Given the description of an element on the screen output the (x, y) to click on. 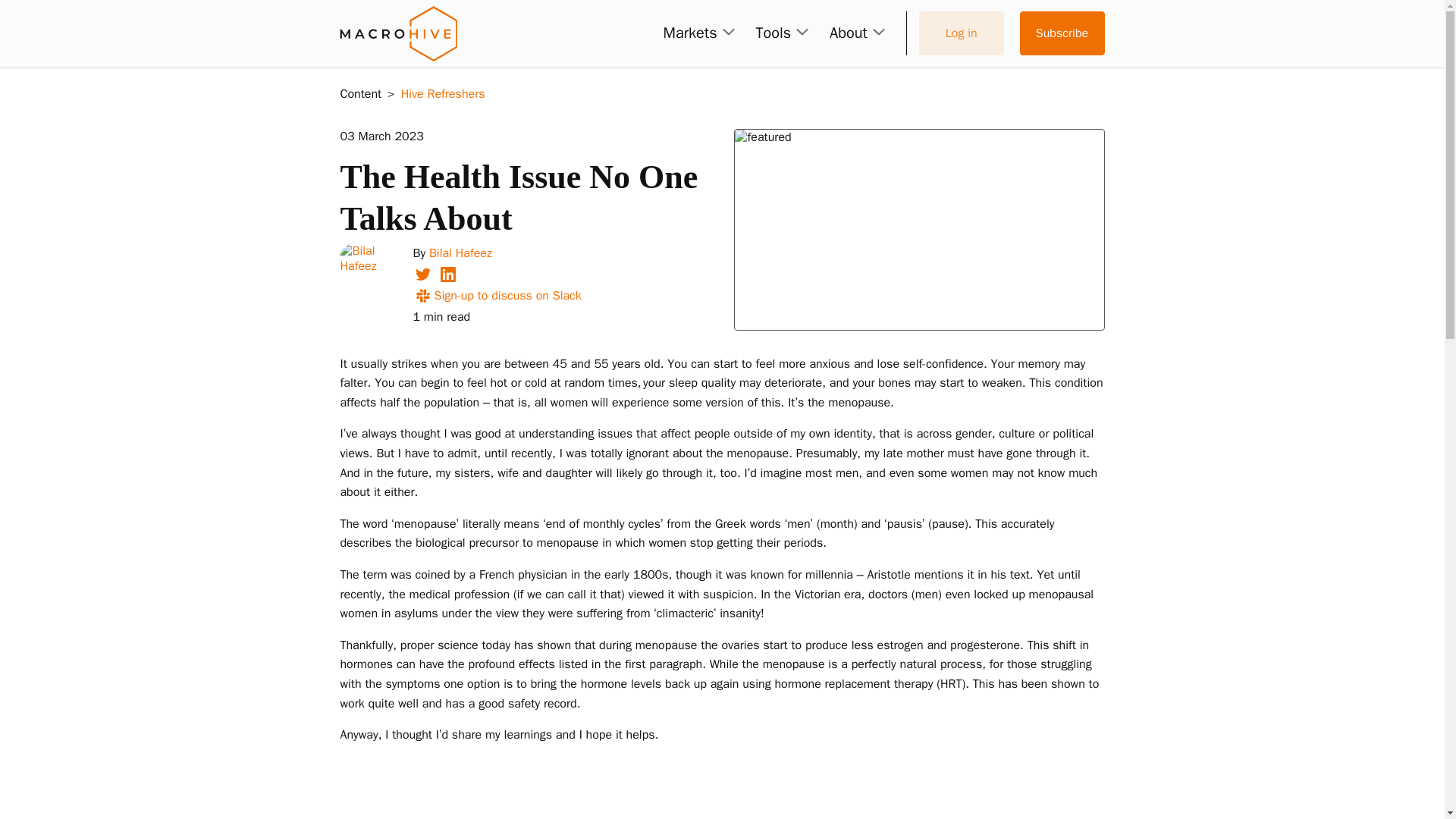
Bilal Hafeez (460, 253)
Hive Refreshers (442, 93)
Subscribe (1061, 33)
Sign-up to discuss on Slack (496, 295)
Log in (961, 33)
